Given the description of an element on the screen output the (x, y) to click on. 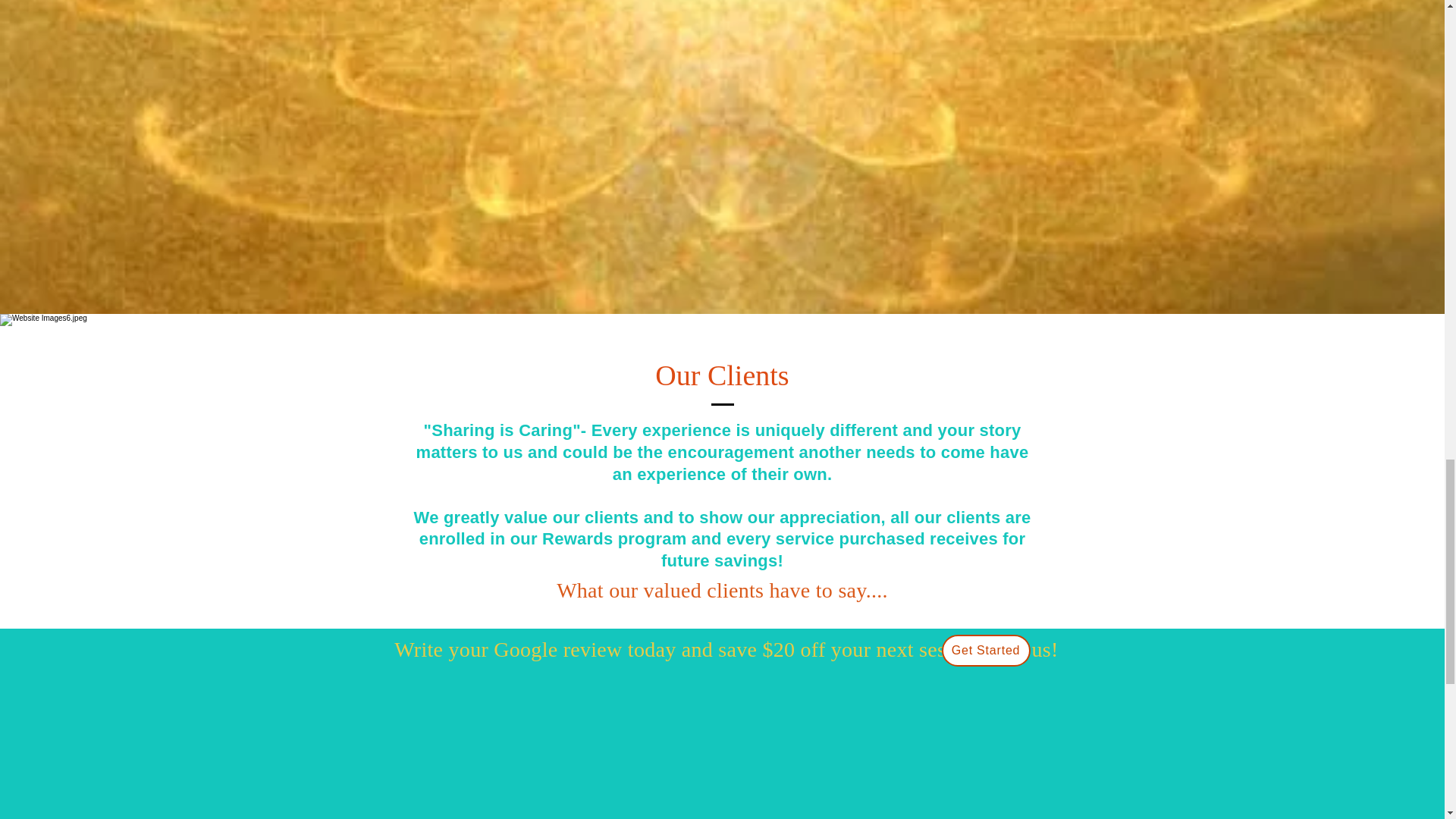
Get Started (986, 650)
